Given the description of an element on the screen output the (x, y) to click on. 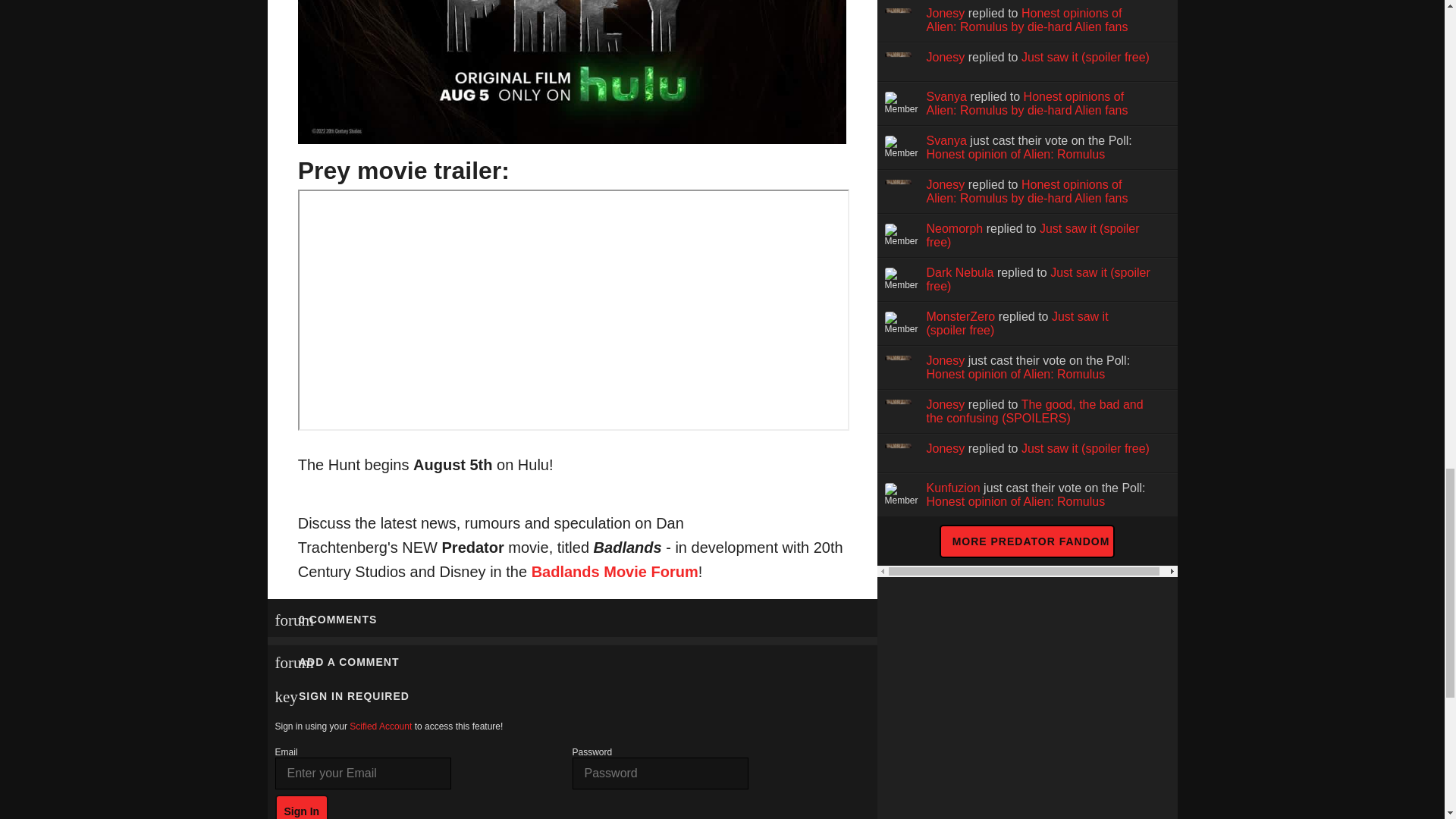
Scified Account (380, 726)
What is a Scified Account (380, 726)
Sign In (302, 806)
Badlands Movie Forum (614, 571)
